Given the description of an element on the screen output the (x, y) to click on. 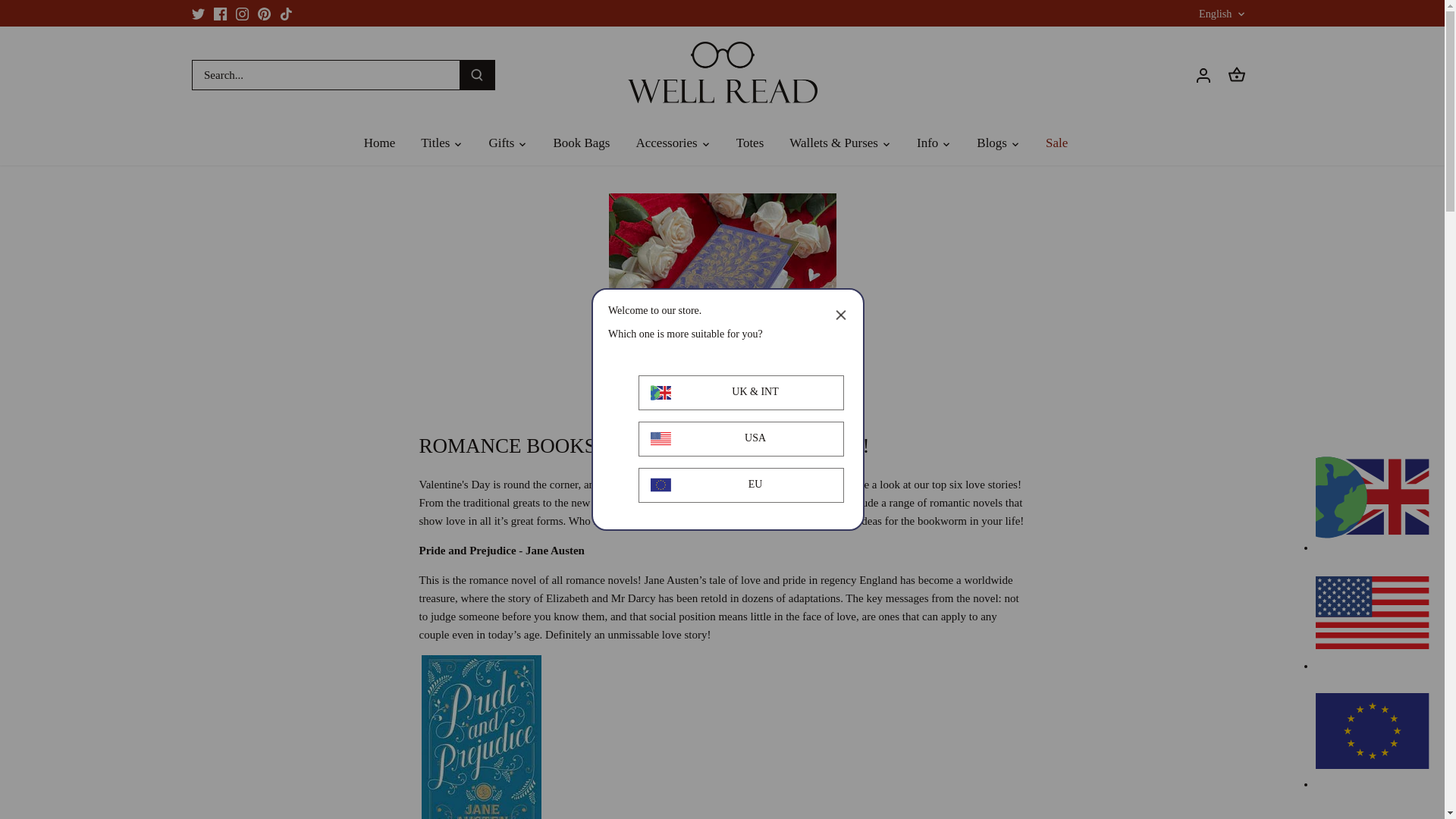
Go to cart (1236, 74)
Twitter (196, 12)
Titles (435, 143)
Facebook (220, 12)
Facebook (220, 13)
Instagram (241, 13)
English (1222, 13)
Pinterest (263, 12)
Pinterest (263, 13)
Home (386, 143)
Twitter (196, 13)
Instagram (241, 12)
